Given the description of an element on the screen output the (x, y) to click on. 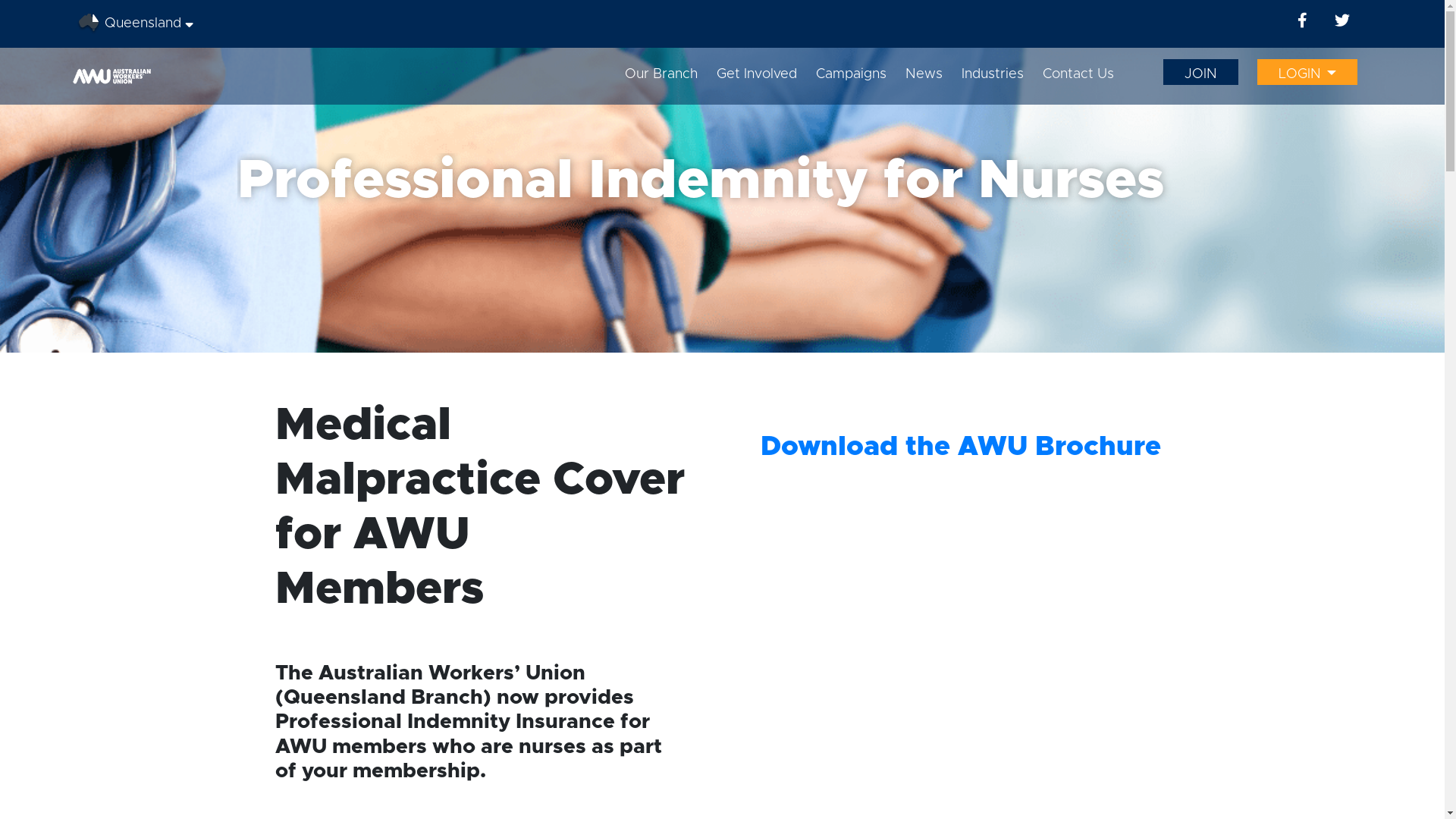
Our Branch Element type: text (660, 74)
LOGIN Element type: text (1307, 71)
 Queensland Element type: text (134, 23)
Industries Element type: text (992, 74)
Campaigns Element type: text (850, 74)
News Element type: text (923, 74)
JOIN Element type: text (1200, 71)
Get Involved Element type: text (756, 74)
Contact Us Element type: text (1077, 74)
Download the AWU Brochure Element type: text (959, 446)
